Given the description of an element on the screen output the (x, y) to click on. 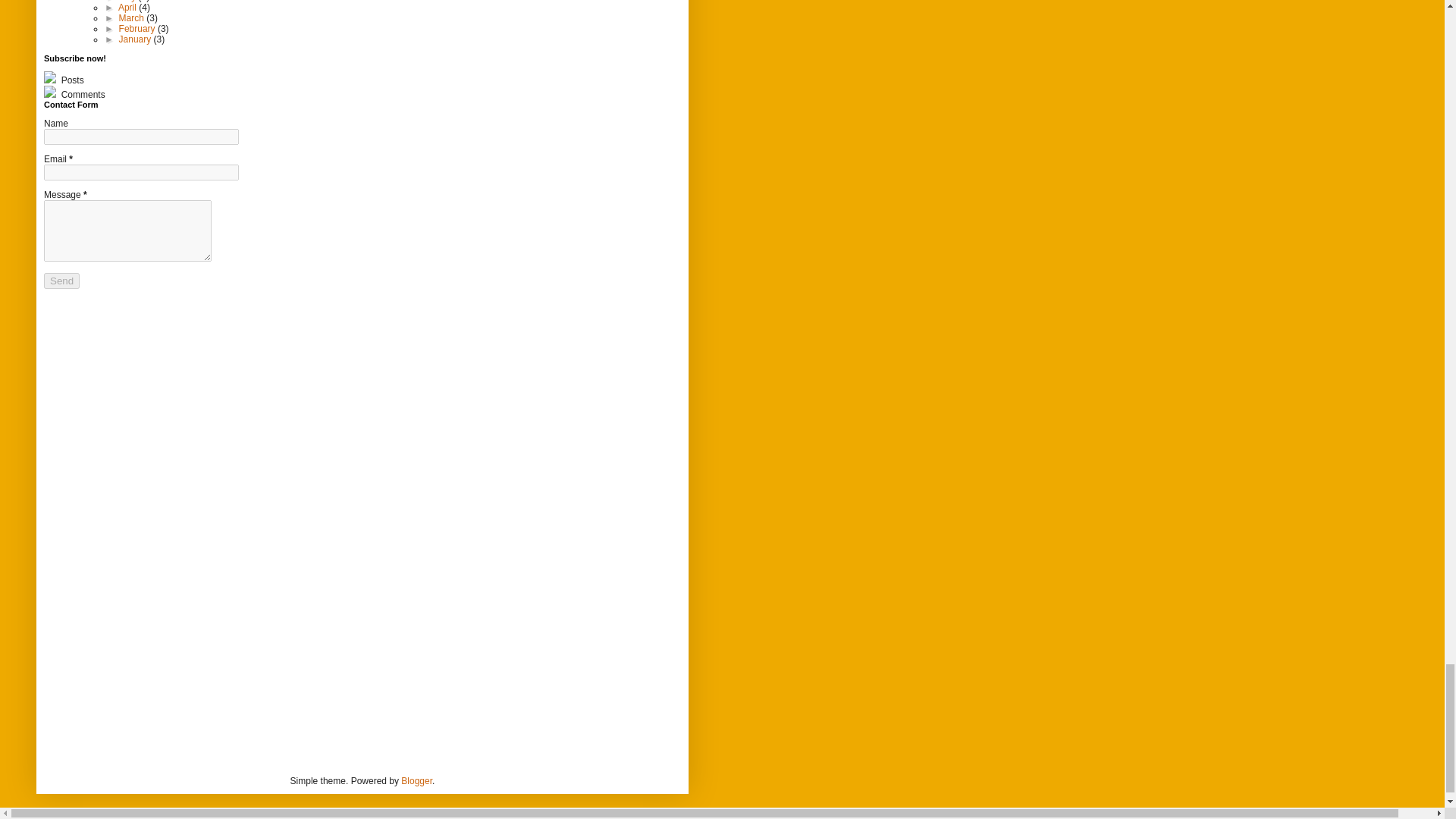
Send (61, 280)
